Given the description of an element on the screen output the (x, y) to click on. 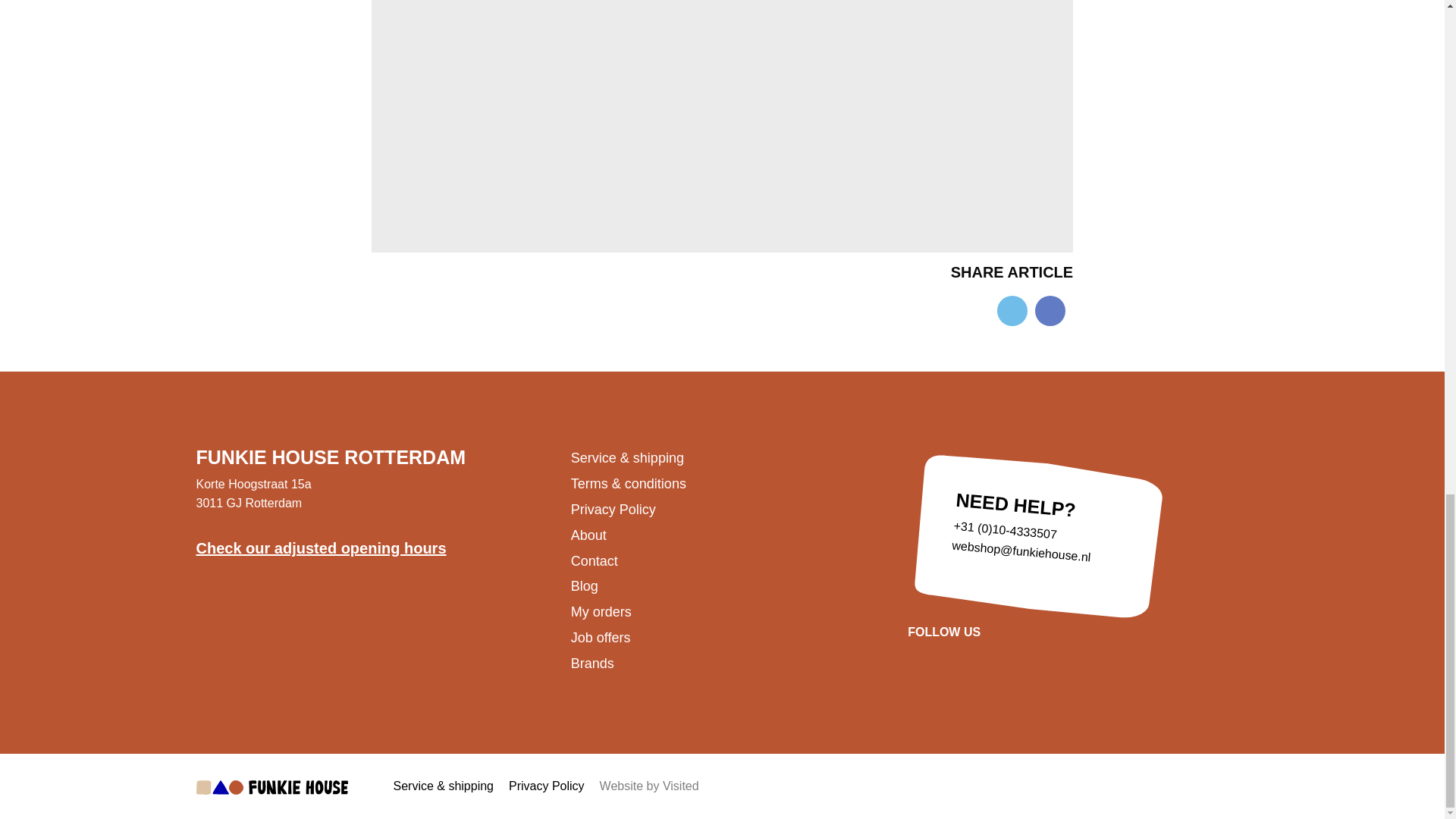
facebook-alt (1050, 309)
instagram (986, 656)
twitter (1012, 309)
